Given the description of an element on the screen output the (x, y) to click on. 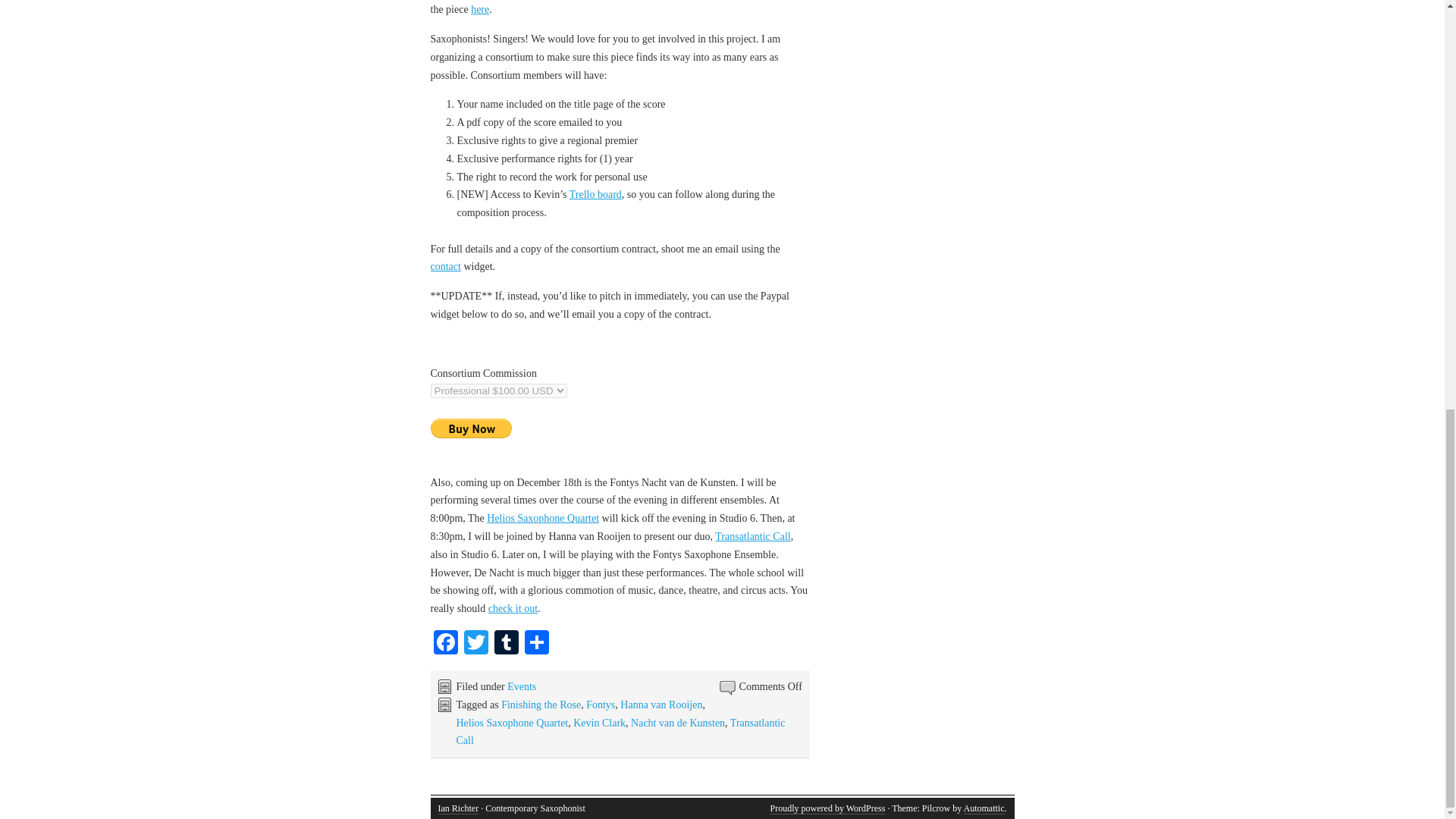
check it out (512, 608)
contact (445, 266)
Helios Saxophone Quartet (513, 722)
Fontys (600, 704)
Tumblr (506, 643)
Events (520, 686)
Twitter (476, 643)
Twitter (476, 643)
A Semantic Personal Publishing Platform (827, 808)
Share (536, 643)
Tumblr (506, 643)
Facebook (445, 643)
Transatlantic Call (752, 536)
Facebook (445, 643)
Helios Saxophone Quartet (542, 518)
